Given the description of an element on the screen output the (x, y) to click on. 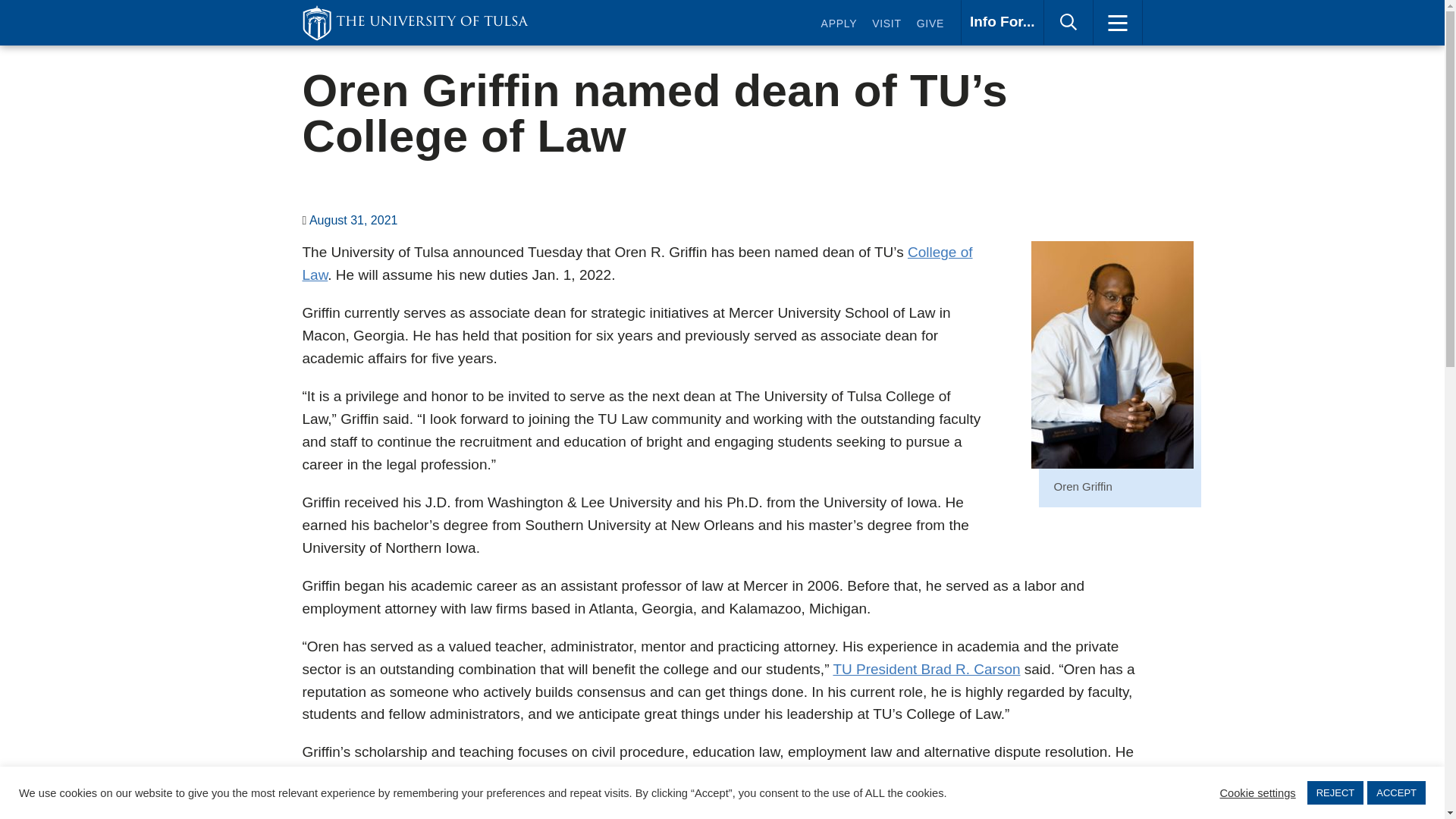
APPLY (1001, 22)
GIVE (839, 25)
Link to TU homepage (930, 25)
VISIT (414, 23)
Skip to main content (886, 25)
